Given the description of an element on the screen output the (x, y) to click on. 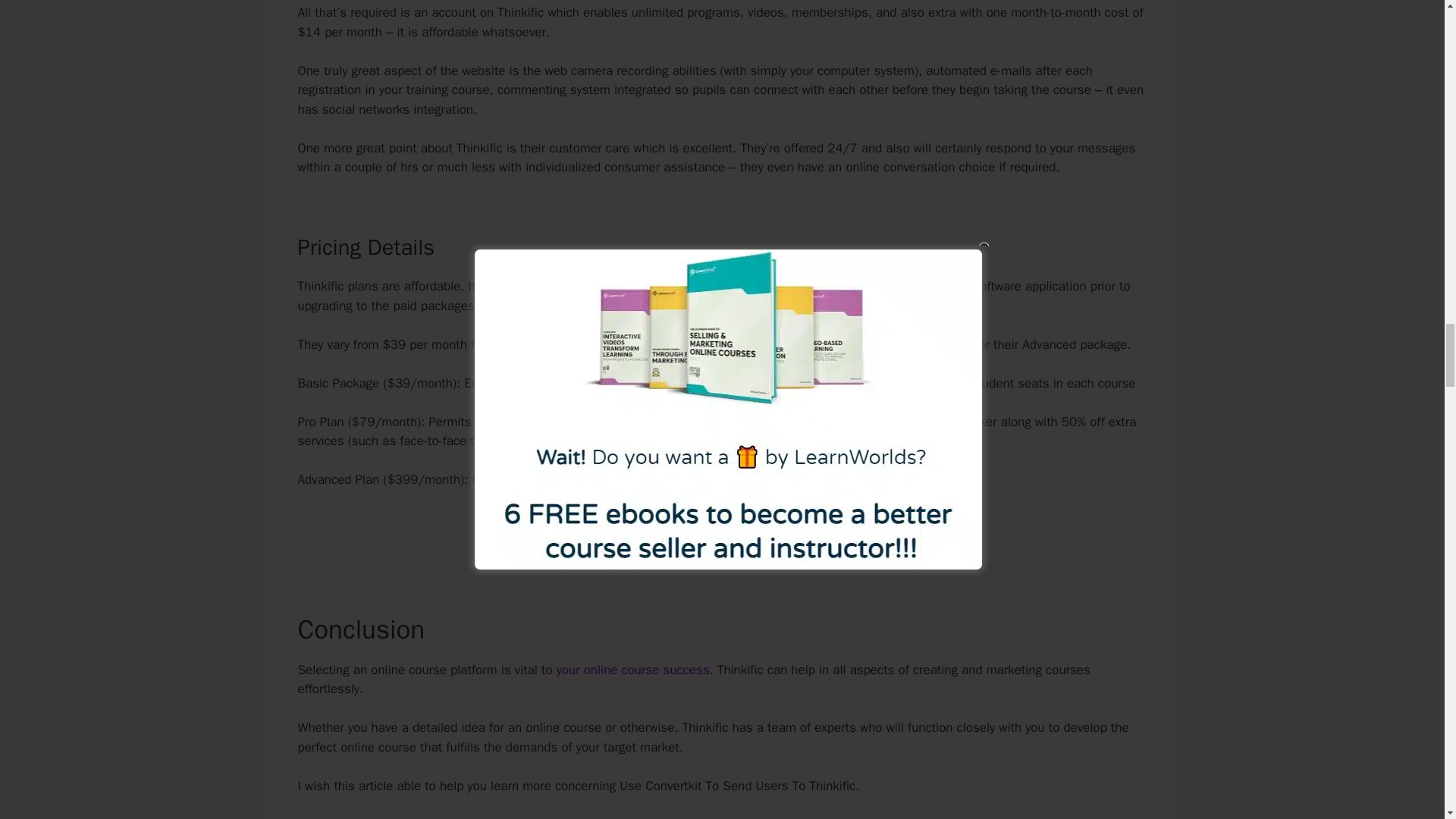
Thinkific platform (607, 817)
Go Here For FullComplete Pricing (722, 531)
a totally free trial (551, 286)
your online course success (633, 669)
